Given the description of an element on the screen output the (x, y) to click on. 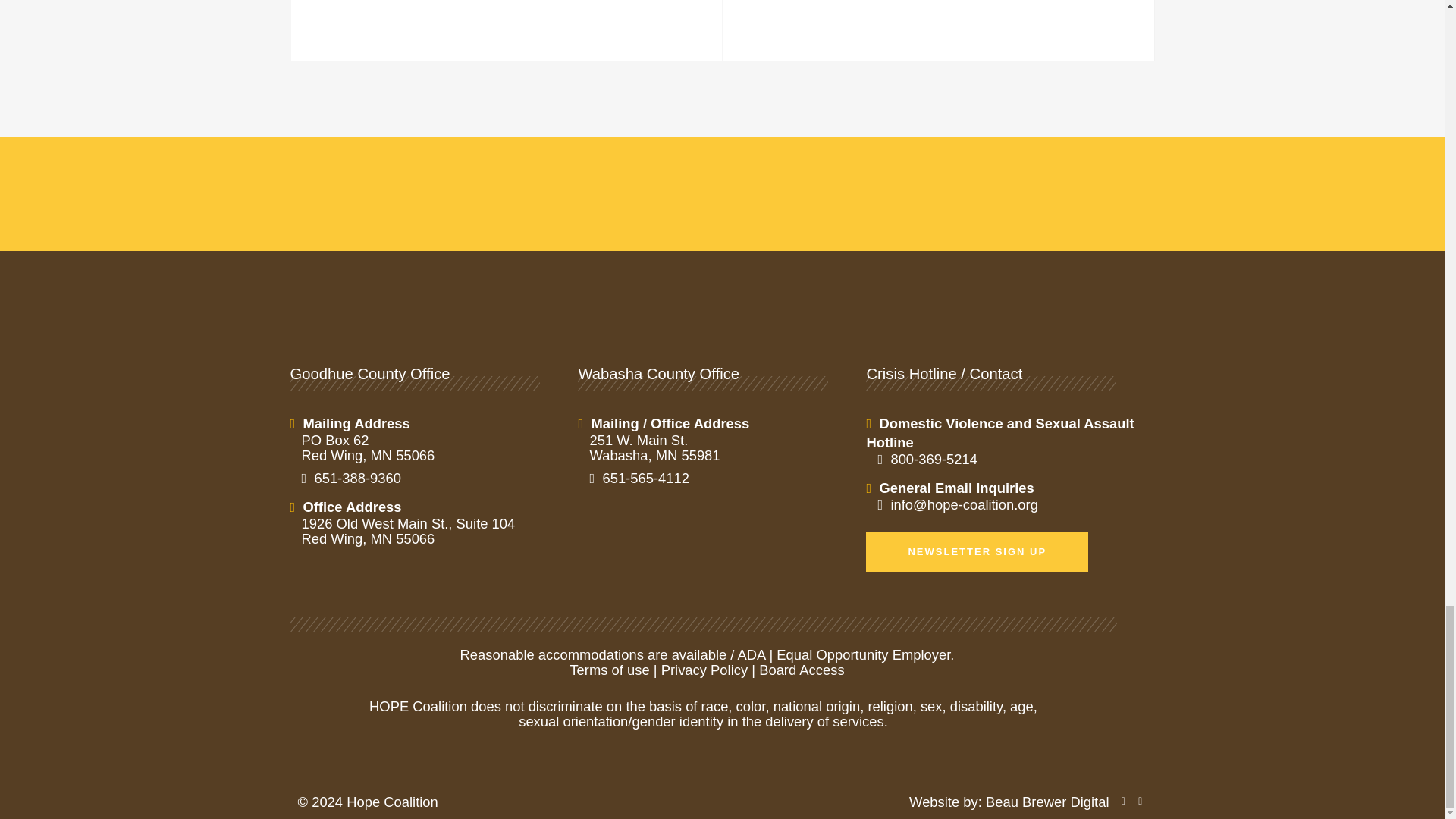
Report a bug (1125, 801)
  651-388-9360 (430, 478)
  651-565-4112 (718, 478)
  800-369-5214 (1006, 459)
Support (1142, 801)
